Given the description of an element on the screen output the (x, y) to click on. 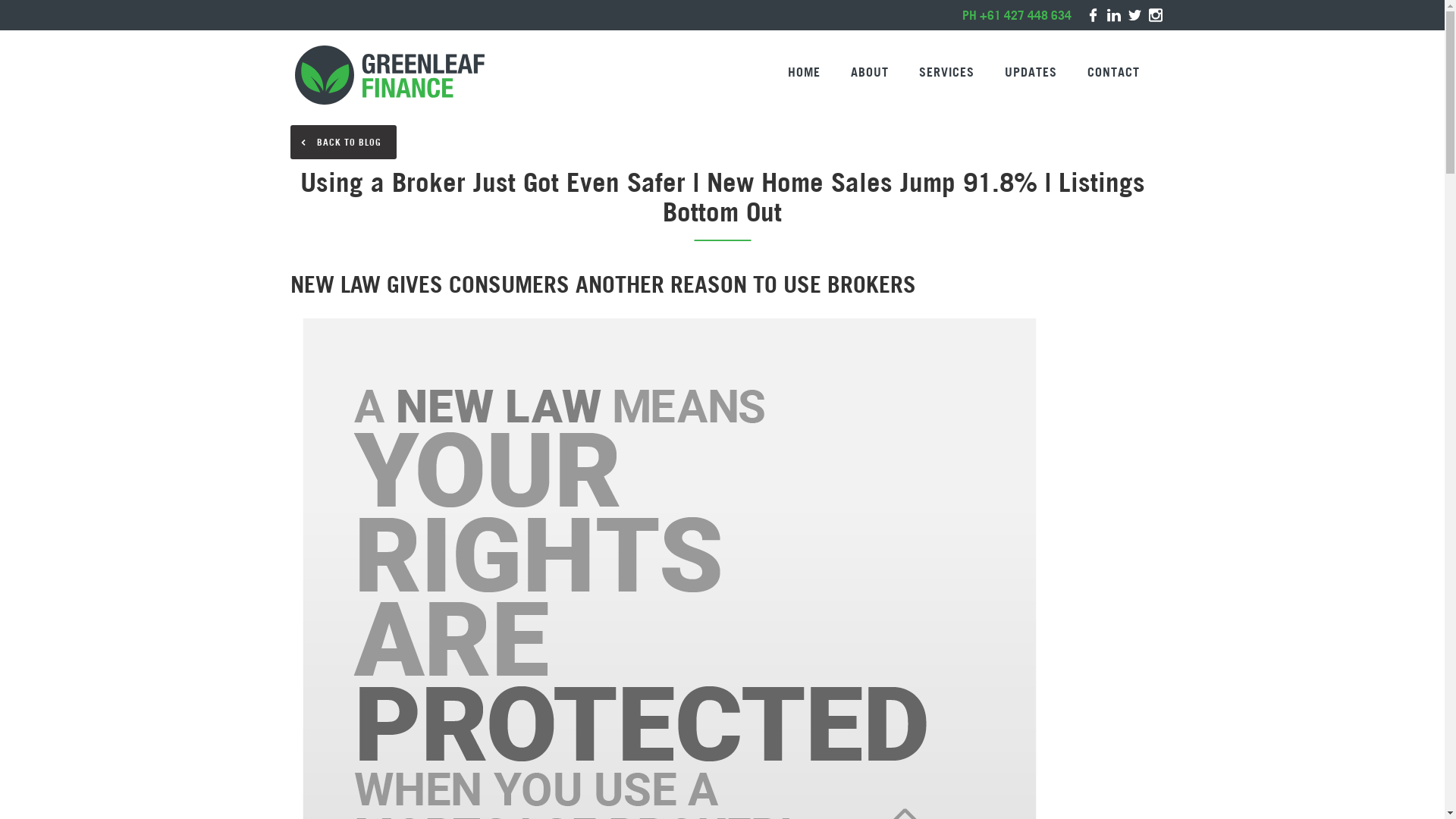
CONTACT Element type: text (1113, 72)
ABOUT Element type: text (869, 72)
HOME Element type: text (803, 72)
UPDATES Element type: text (1029, 72)
SERVICES Element type: text (946, 72)
BACK TO BLOG Element type: text (342, 142)
